Given the description of an element on the screen output the (x, y) to click on. 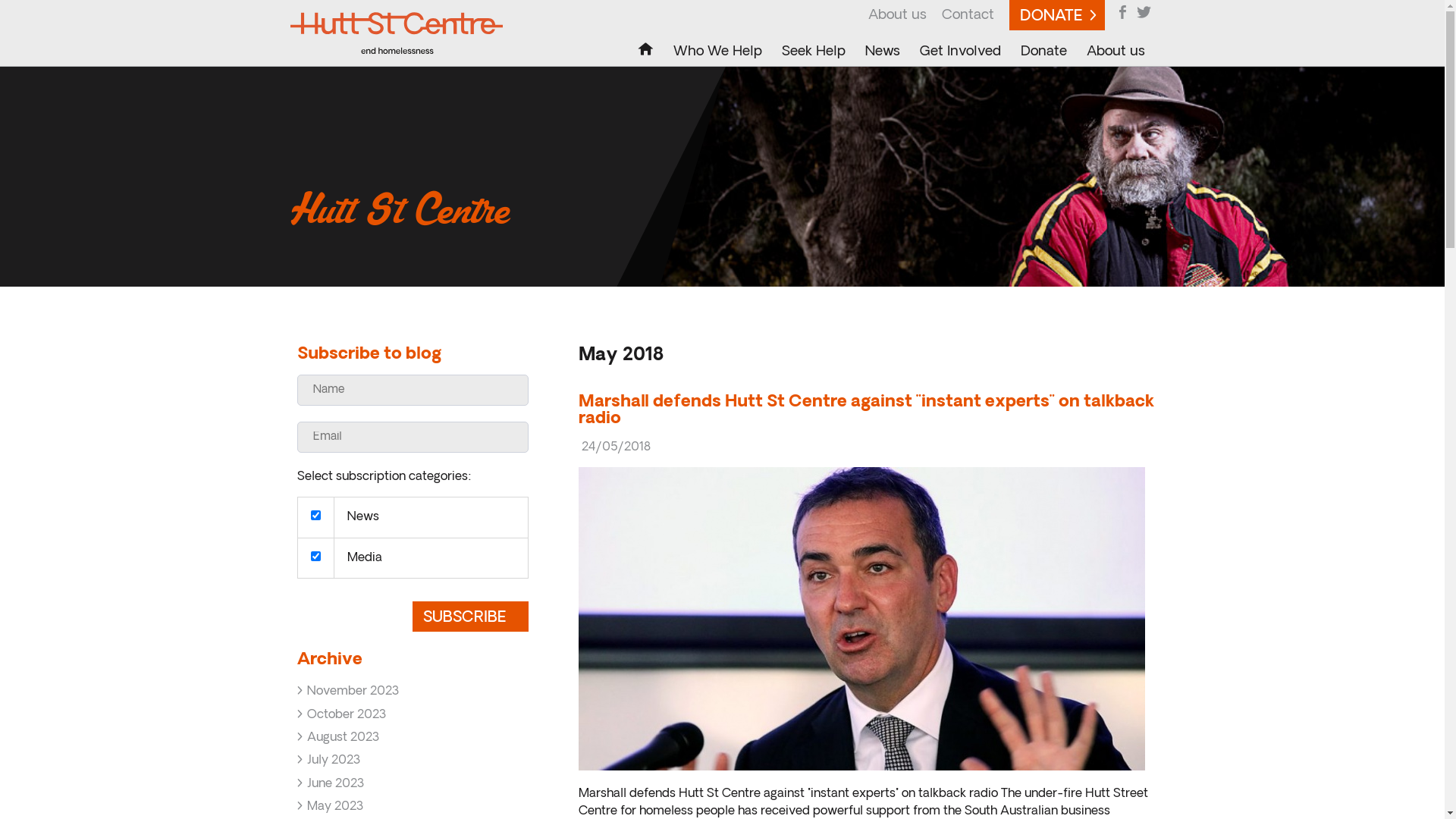
About us Element type: text (896, 15)
Get Involved Element type: text (960, 49)
Facebook Element type: text (1121, 11)
October 2023 Element type: text (412, 714)
Home Element type: text (645, 49)
June 2023 Element type: text (412, 783)
Subscribe Element type: text (470, 616)
About us Element type: text (1115, 49)
Seek Help Element type: text (813, 49)
Twitter Element type: text (1143, 11)
May 2023 Element type: text (412, 806)
Who We Help Element type: text (716, 49)
August 2023 Element type: text (412, 737)
July 2023 Element type: text (412, 760)
DONATE Element type: text (1056, 15)
News Element type: text (882, 49)
Contact Element type: text (967, 15)
Donate Element type: text (1043, 49)
November 2023 Element type: text (412, 691)
